Given the description of an element on the screen output the (x, y) to click on. 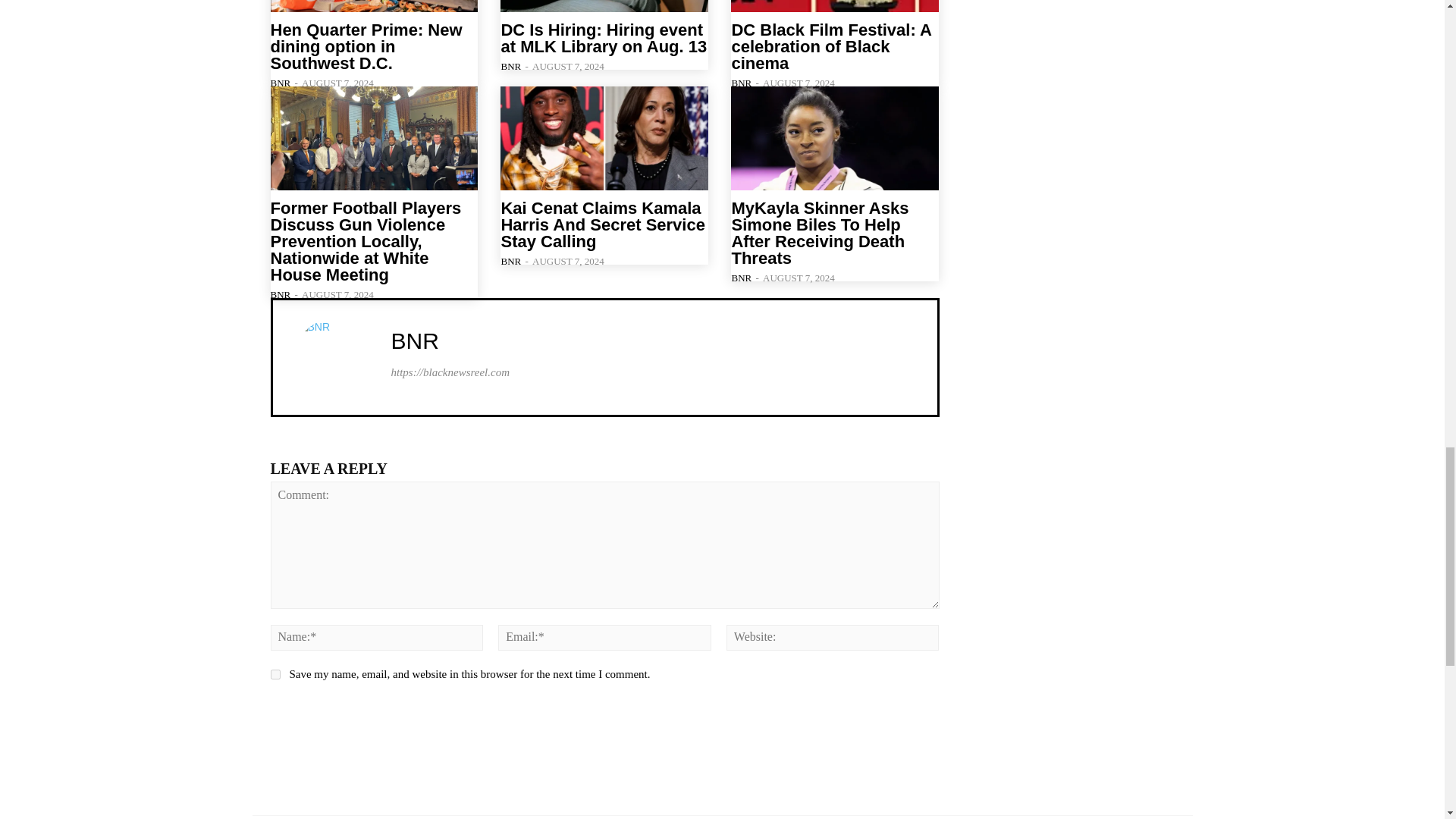
Post Comment (338, 715)
yes (274, 674)
Hen Quarter Prime: New dining option in Southwest D.C. (373, 6)
